Given the description of an element on the screen output the (x, y) to click on. 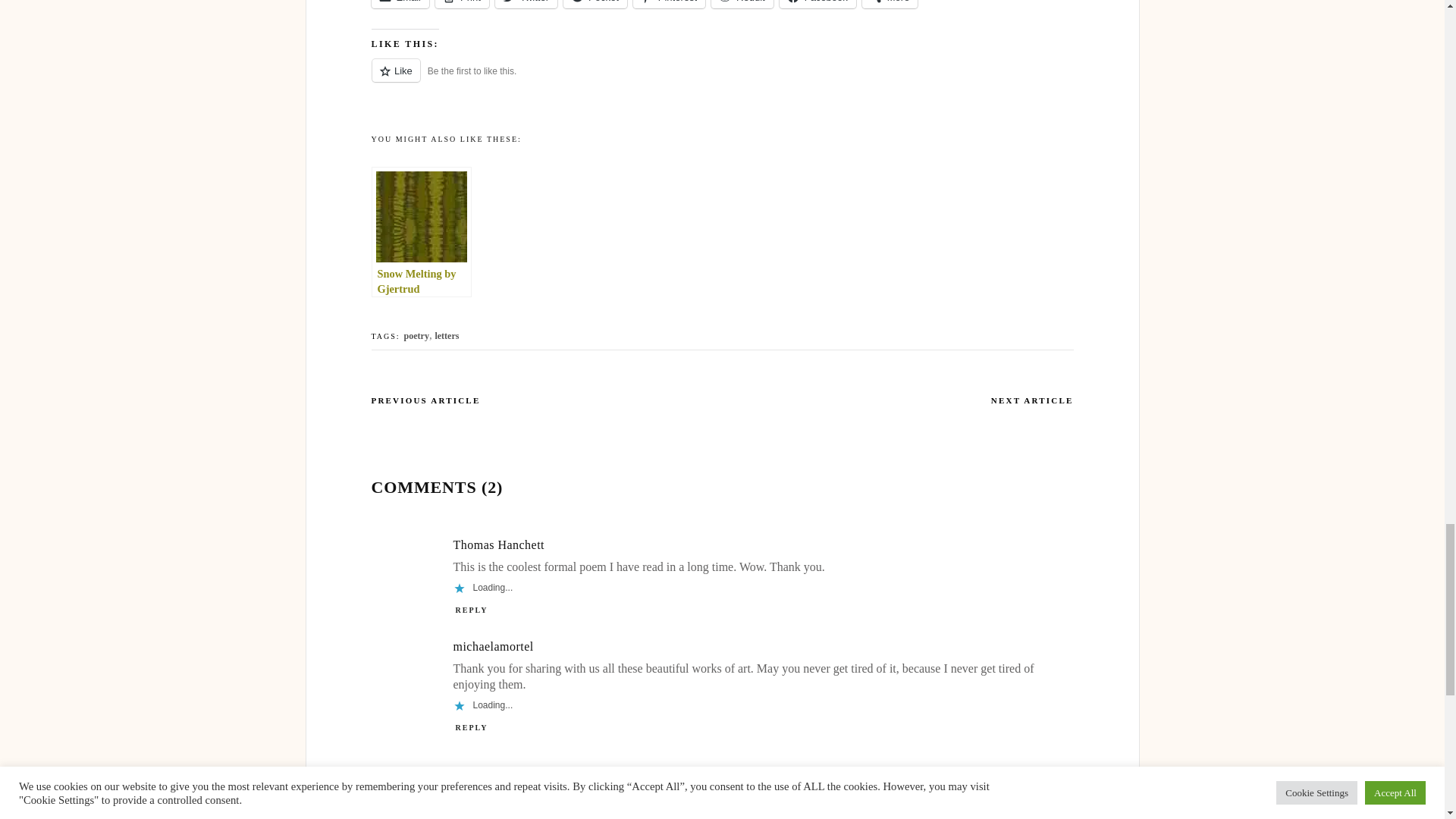
Click to share on Reddit (742, 4)
Click to print (462, 4)
Click to share on Facebook (817, 4)
Click to share on Pocket (595, 4)
Click to email a link to a friend (400, 4)
Click to share on Twitter (526, 4)
Like or Reblog (722, 78)
Click to share on Pinterest (668, 4)
